Given the description of an element on the screen output the (x, y) to click on. 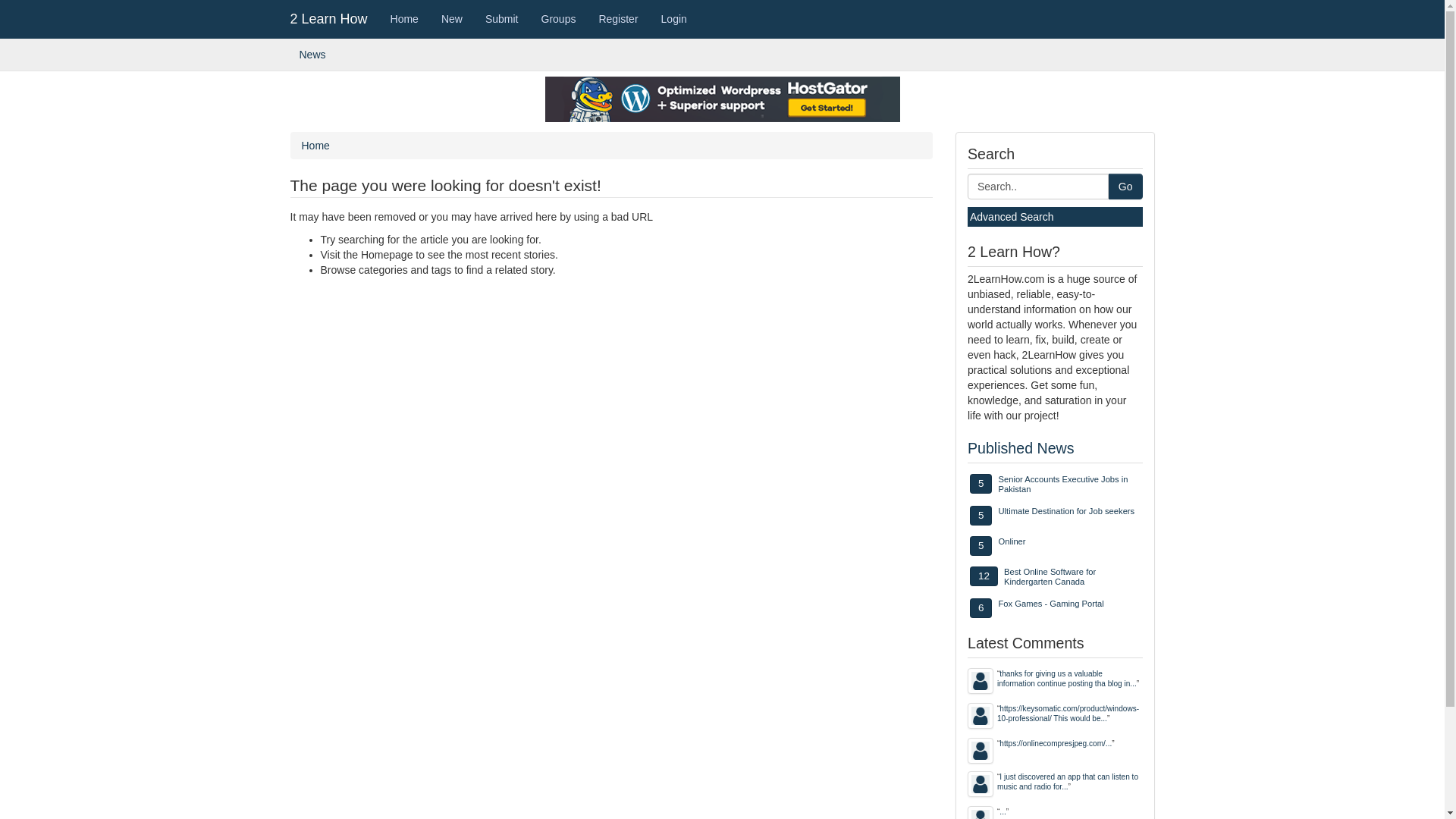
Login Element type: text (673, 18)
Onliner Element type: text (1011, 541)
noctis Element type: hover (980, 680)
2 Learn How Element type: text (329, 18)
... Element type: text (1002, 811)
Go Element type: text (1125, 186)
Mirabel Element type: hover (980, 784)
New Element type: text (451, 18)
Advanced Search Element type: text (1011, 216)
Home Element type: text (404, 18)
umar110 Element type: hover (980, 750)
Fox Games - Gaming Portal Element type: text (1050, 603)
News Element type: text (312, 54)
Submit Element type: text (501, 18)
Ultimate Destination for Job seekers Element type: text (1065, 510)
Senior Accounts Executive Jobs in Pakistan Element type: text (1062, 483)
Home Element type: text (315, 145)
Best Online Software for Kindergarten Canada Element type: text (1049, 576)
Register Element type: text (617, 18)
Keysomatic Element type: hover (980, 715)
https://onlinecompresjpeg.com/... Element type: text (1055, 743)
Published News Element type: text (1020, 447)
Groups Element type: text (558, 18)
